Given the description of an element on the screen output the (x, y) to click on. 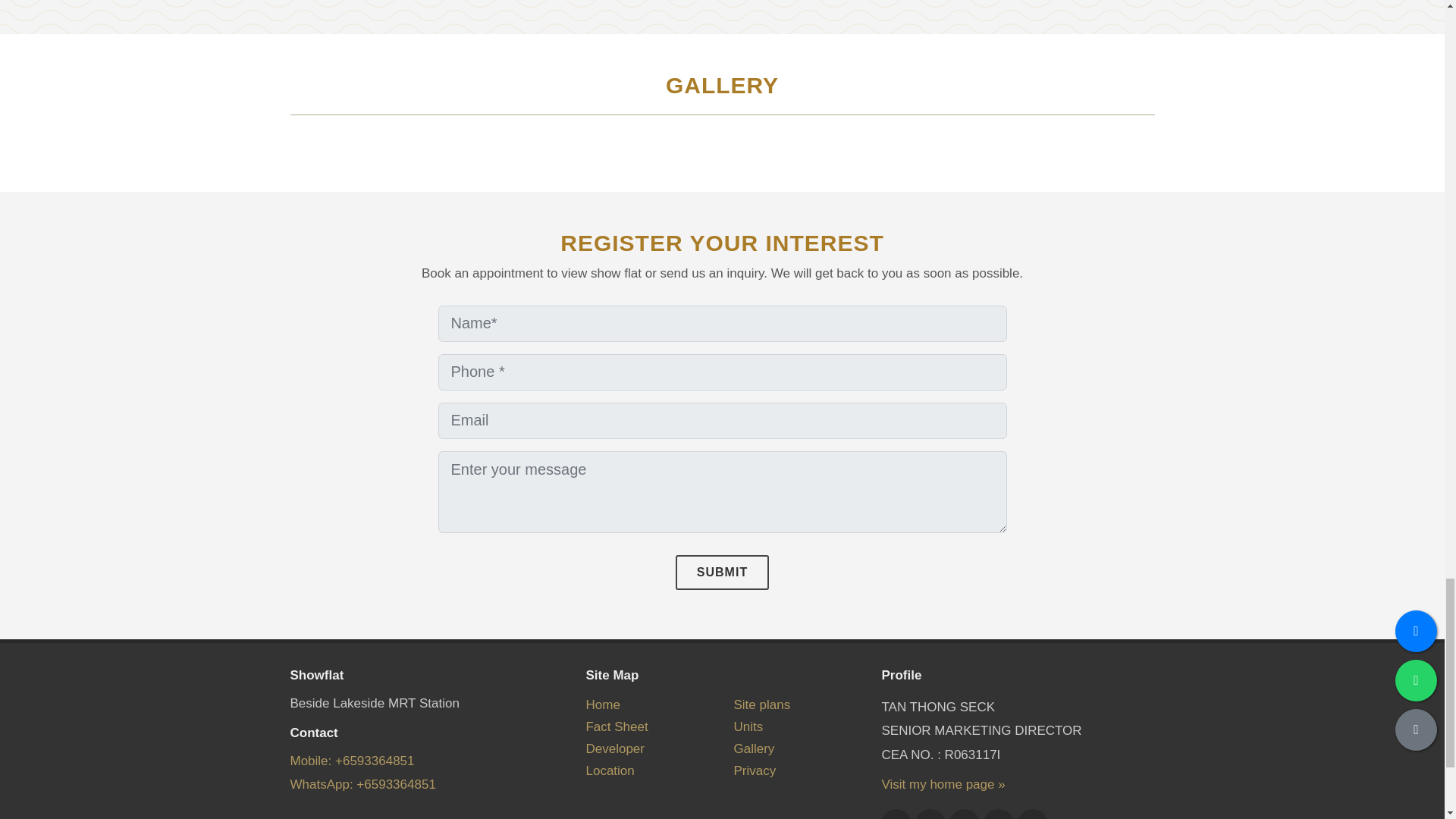
Fact Sheet (616, 726)
SUBMIT (721, 572)
Home (602, 704)
